Given the description of an element on the screen output the (x, y) to click on. 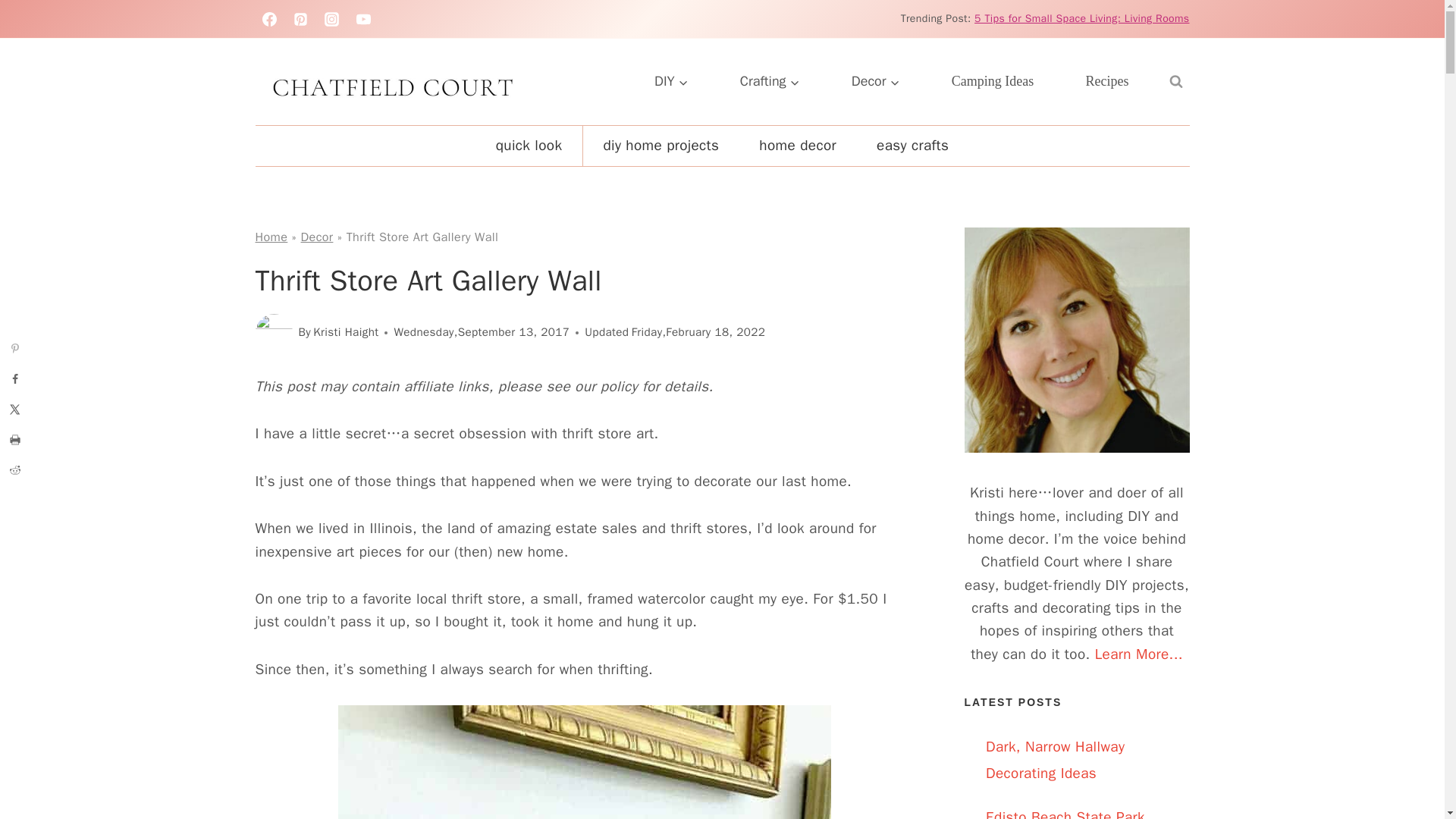
DIY (671, 81)
watercolor with field and trees (584, 762)
Share on Facebook (15, 378)
Share on X (15, 409)
Decor (875, 81)
Camping Ideas (992, 81)
Print this webpage (15, 440)
Save to Pinterest (15, 348)
Crafting (769, 81)
5 Tips for Small Space Living: Living Rooms (1081, 18)
